Given the description of an element on the screen output the (x, y) to click on. 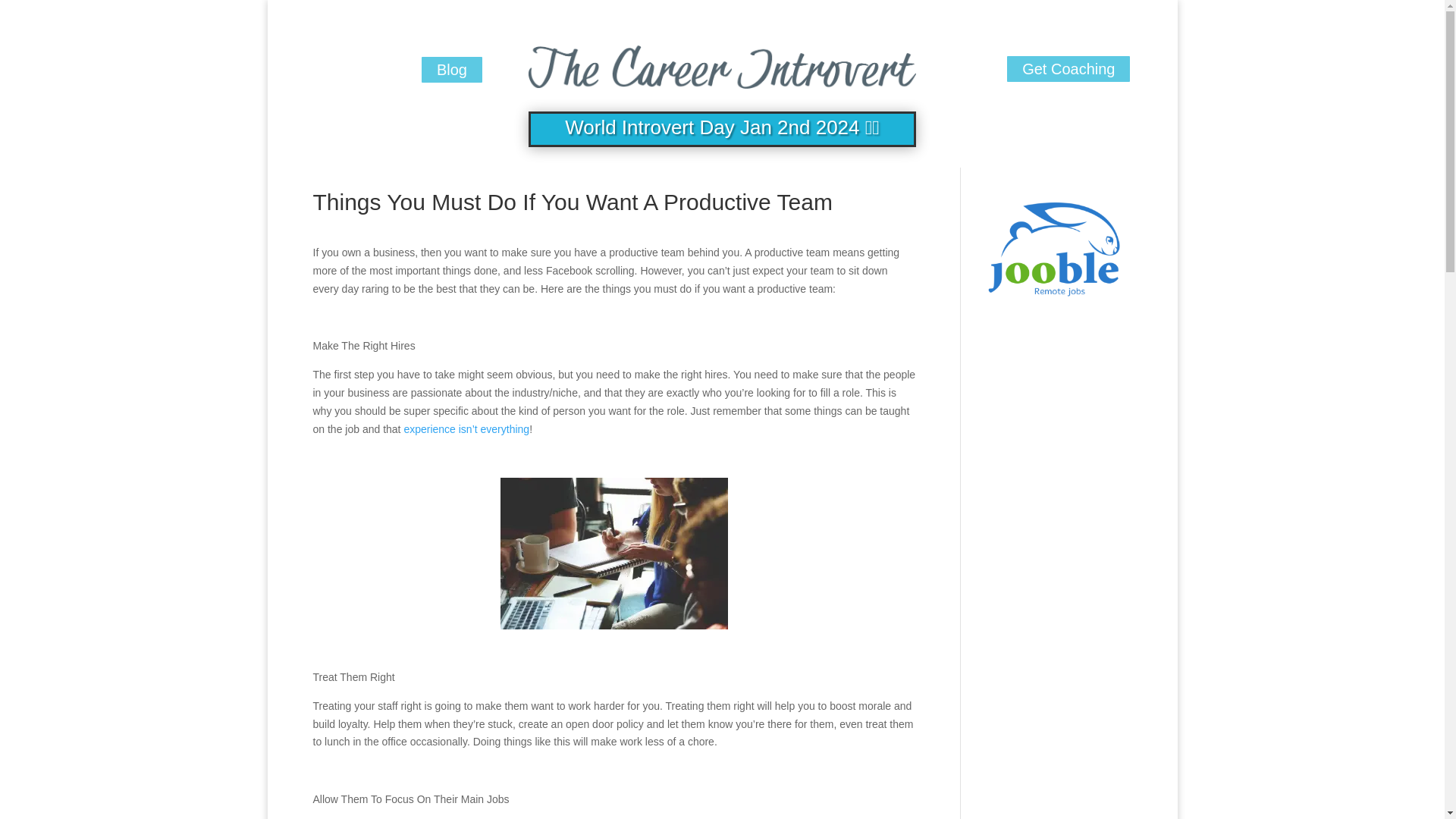
Get Coaching (1068, 68)
The Career Introvert (721, 63)
Blog (451, 69)
